Given the description of an element on the screen output the (x, y) to click on. 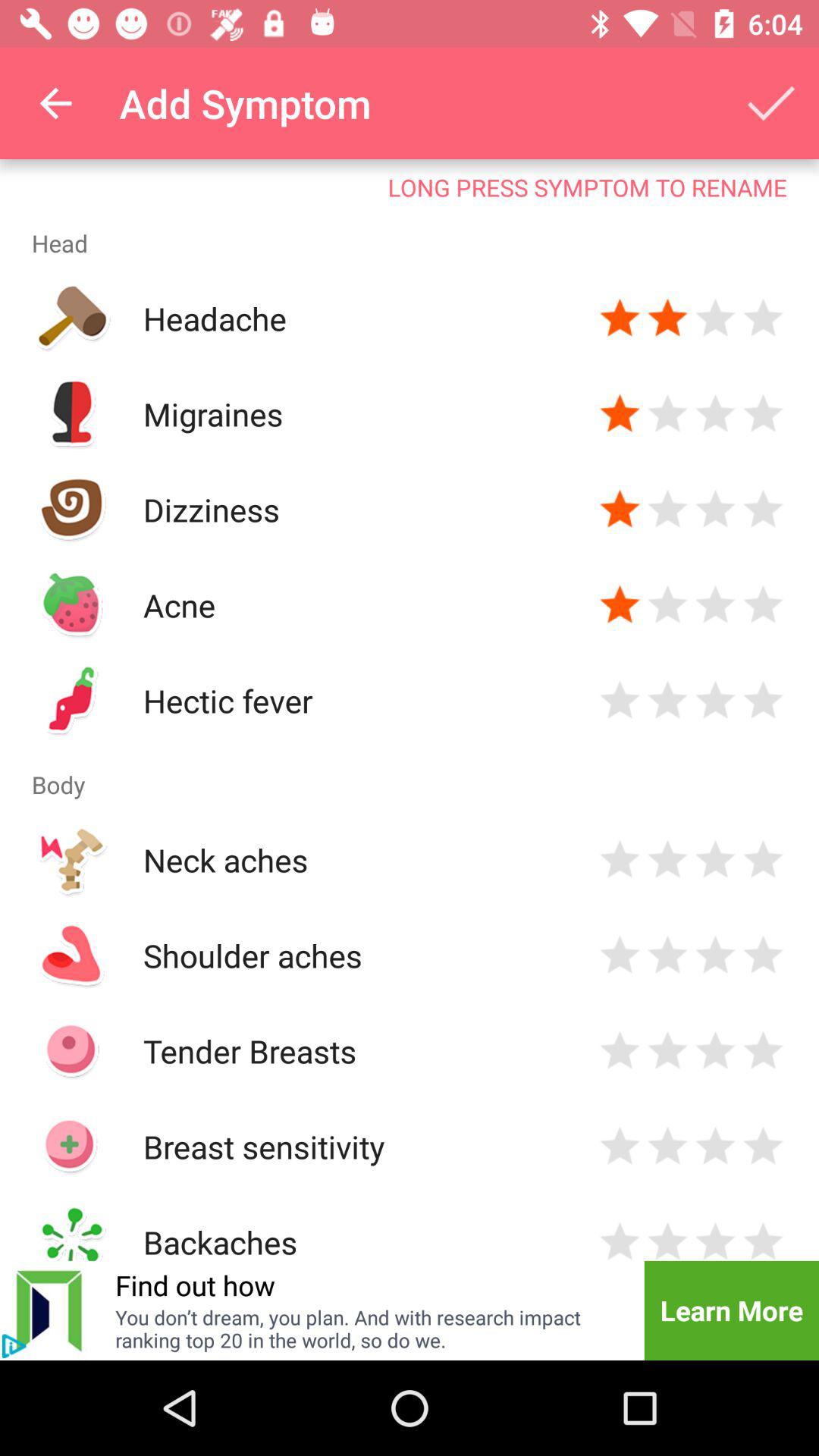
rating for the items specified in the body section (619, 1146)
